Given the description of an element on the screen output the (x, y) to click on. 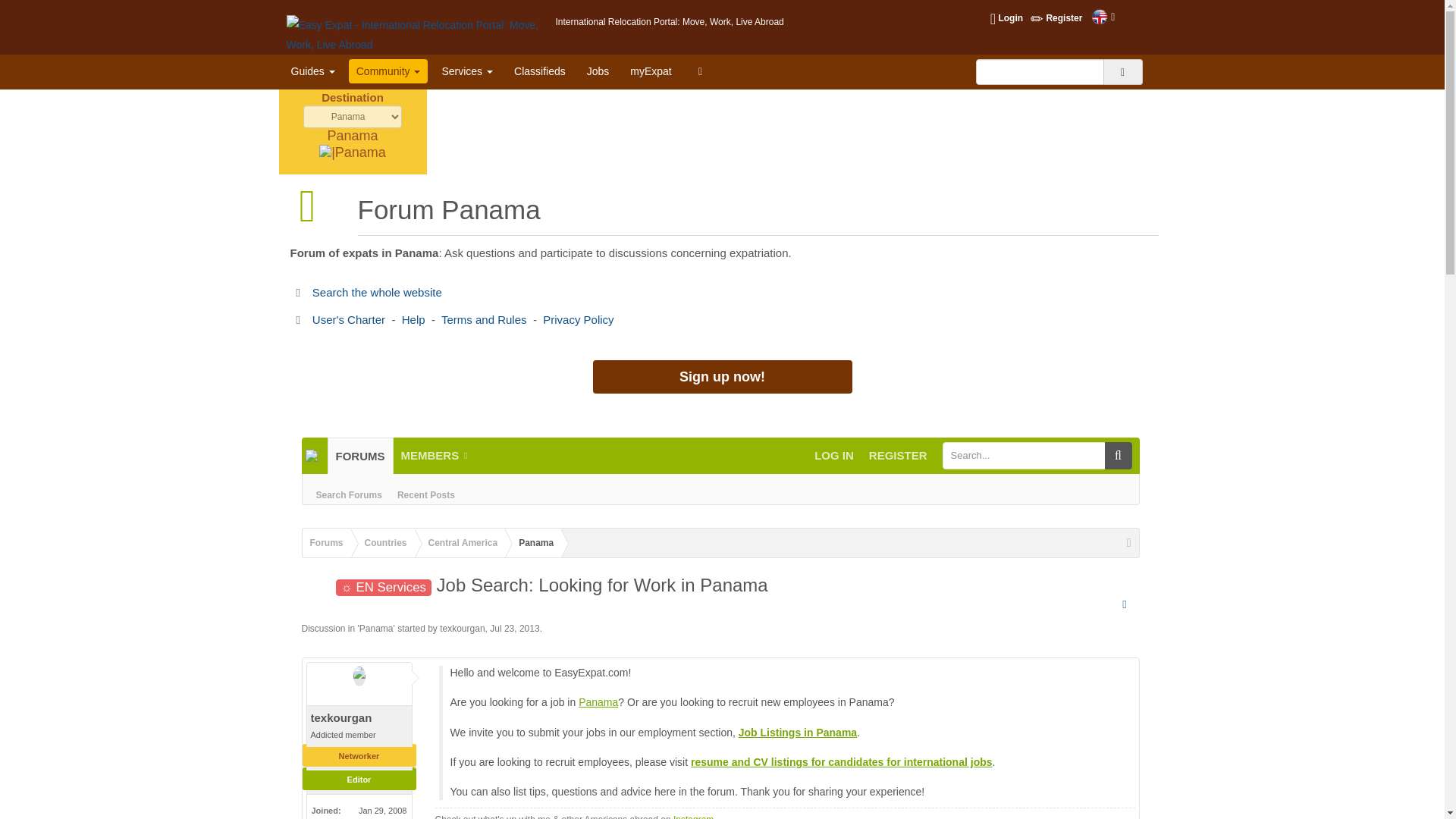
Guides (312, 70)
 Register (1052, 17)
 Login (1002, 17)
